Given the description of an element on the screen output the (x, y) to click on. 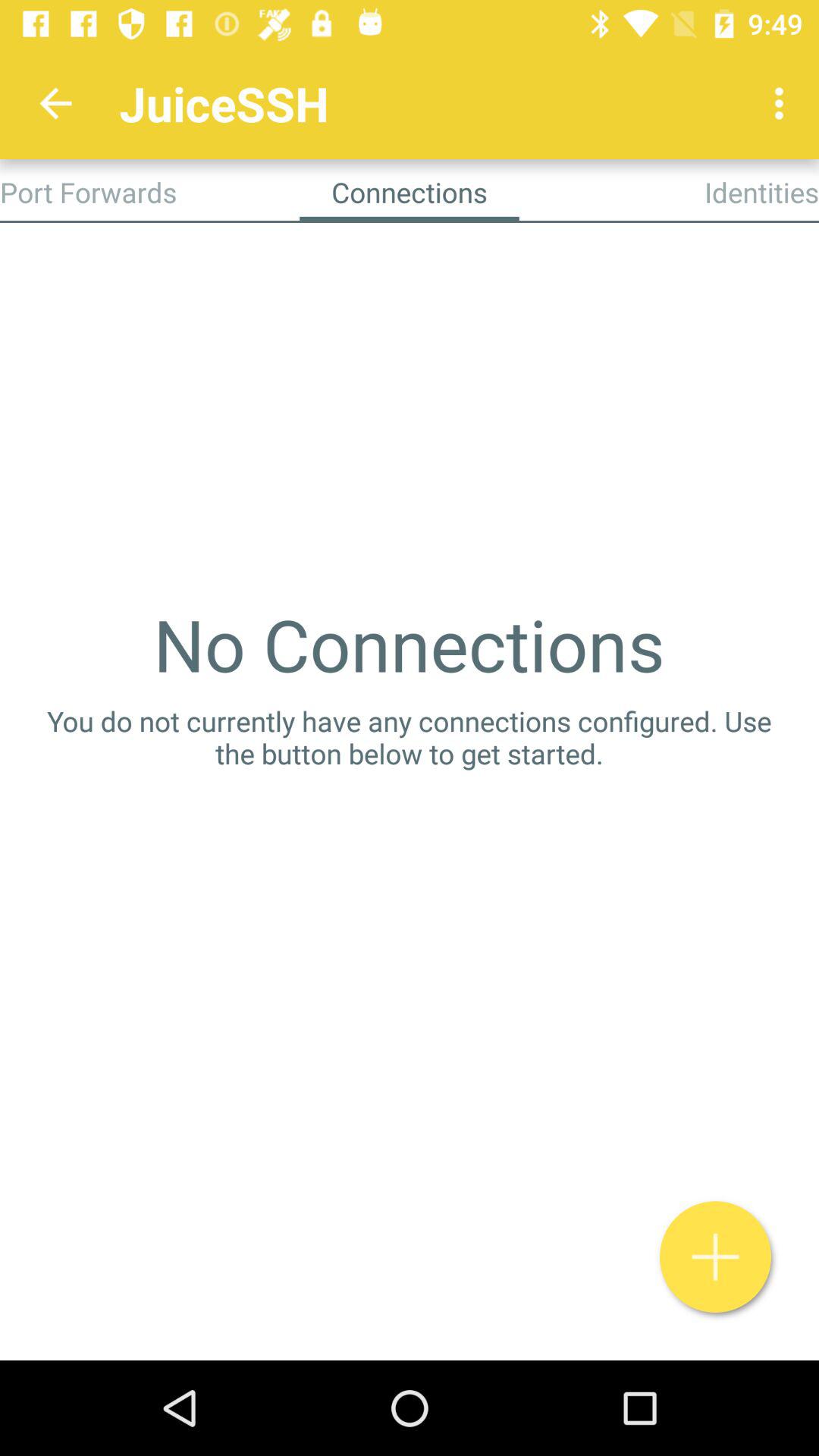
click the icon next to juicessh app (783, 103)
